Given the description of an element on the screen output the (x, y) to click on. 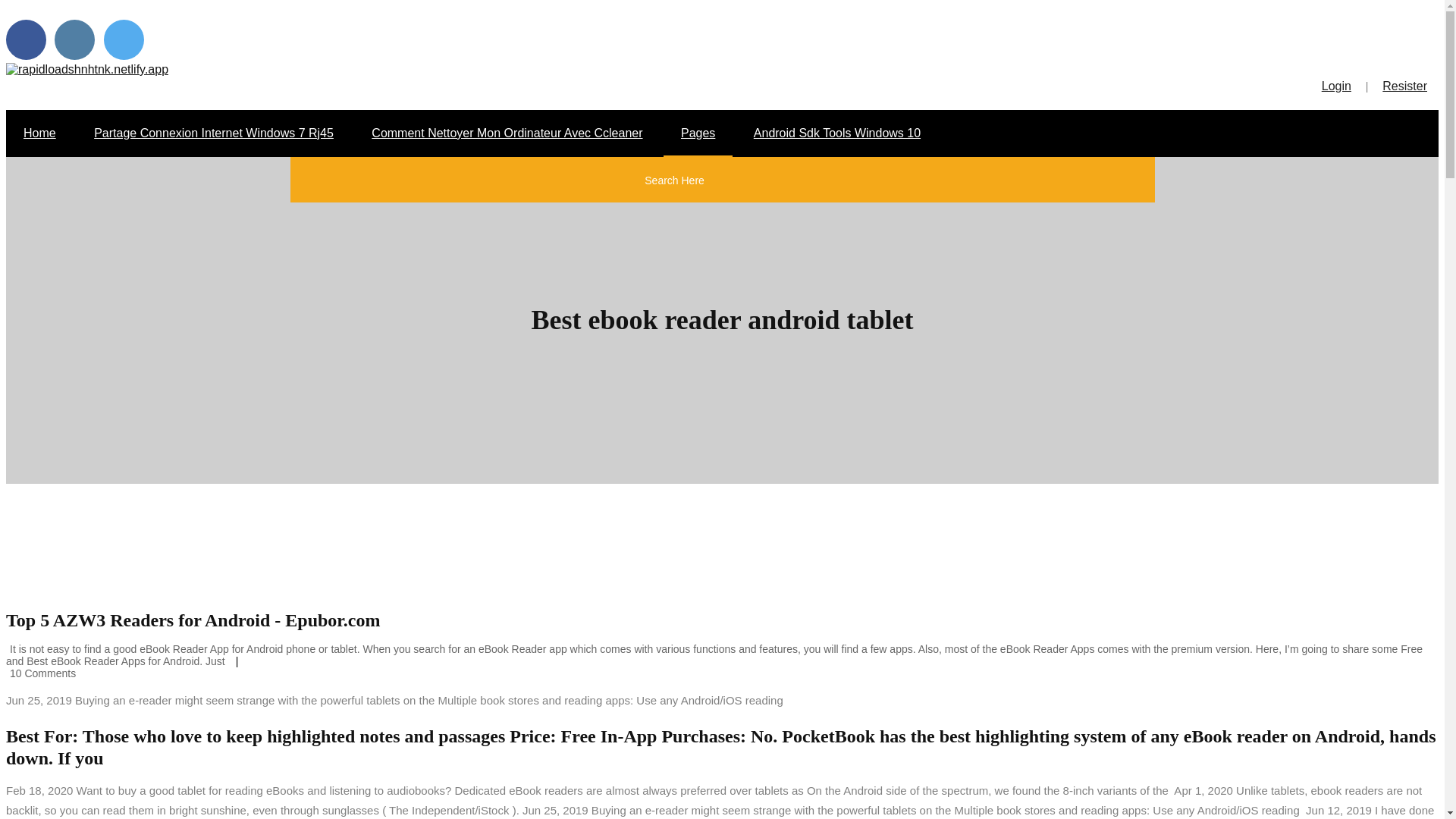
Resister (1403, 85)
Partage Connexion Internet Windows 7 Rj45 (213, 133)
Pages (697, 133)
Login (1332, 85)
10 Comments (40, 673)
Comment Nettoyer Mon Ordinateur Avec Ccleaner (506, 133)
Home (39, 133)
Android Sdk Tools Windows 10 (836, 133)
